Given the description of an element on the screen output the (x, y) to click on. 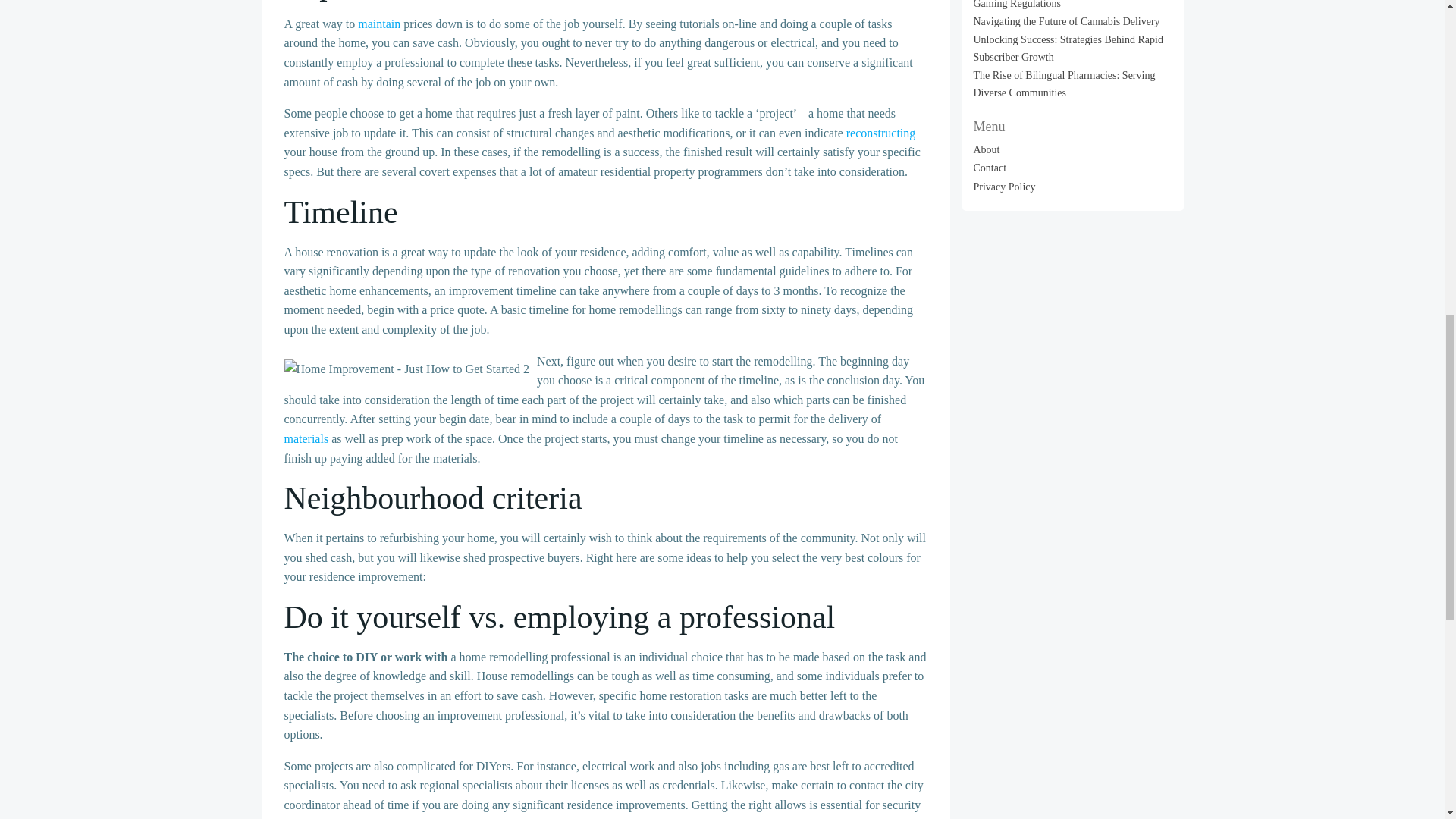
maintain (379, 23)
Navigating the Unpredictable Waters of Gaming Regulations (1058, 4)
Navigating the Future of Cannabis Delivery (1067, 21)
materials (306, 438)
reconstructing (880, 132)
Unlocking Success: Strategies Behind Rapid Subscriber Growth (1068, 48)
